Given the description of an element on the screen output the (x, y) to click on. 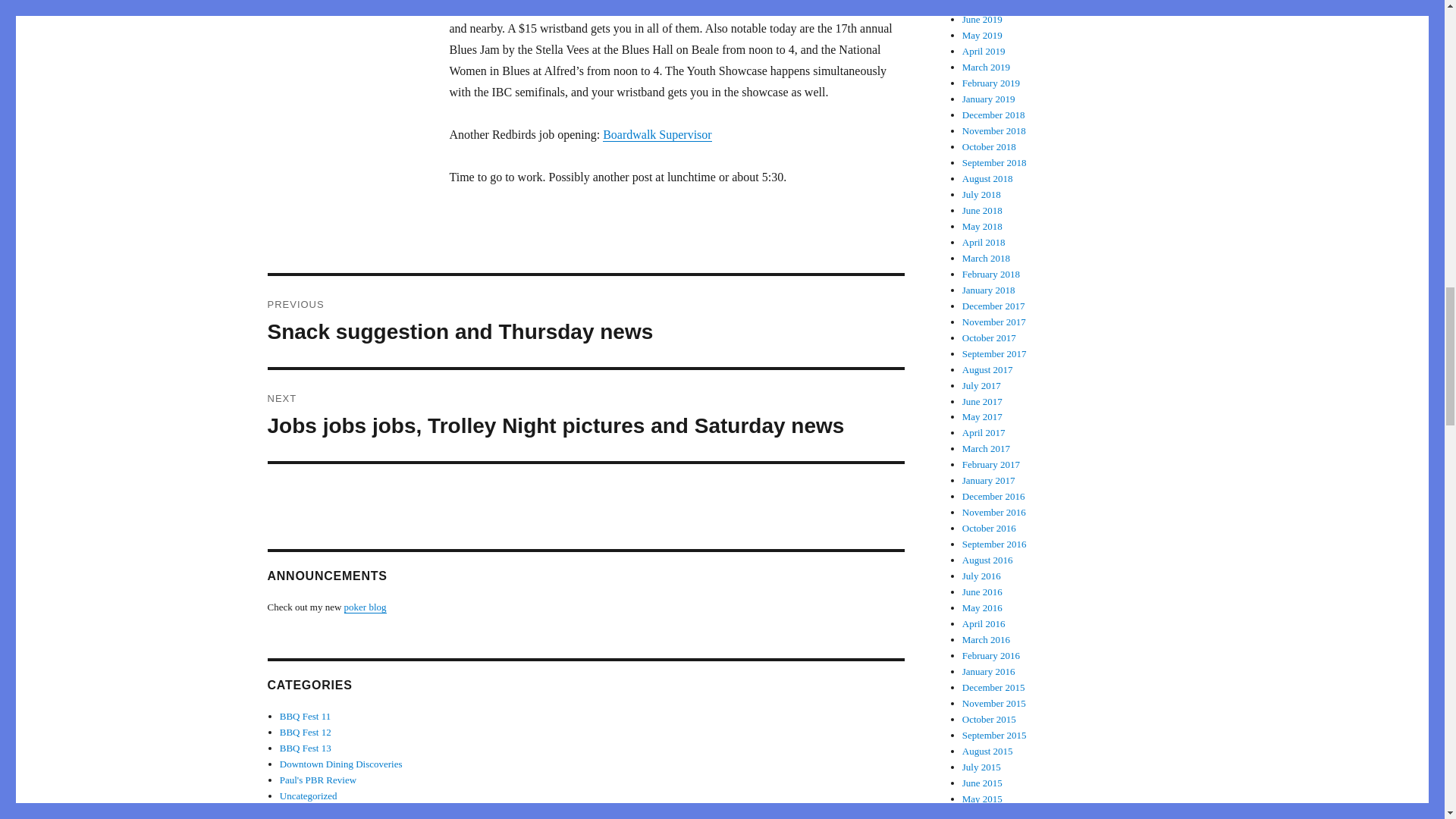
BBQ Fest 11 (304, 715)
poker blog (365, 606)
Uncategorized (308, 795)
BBQ Fest 12 (585, 321)
Downtown Dining Discoveries (305, 731)
Paul's PBR Review (341, 763)
BBQ Fest 13 (317, 779)
Boardwalk Supervisor (305, 747)
